Given the description of an element on the screen output the (x, y) to click on. 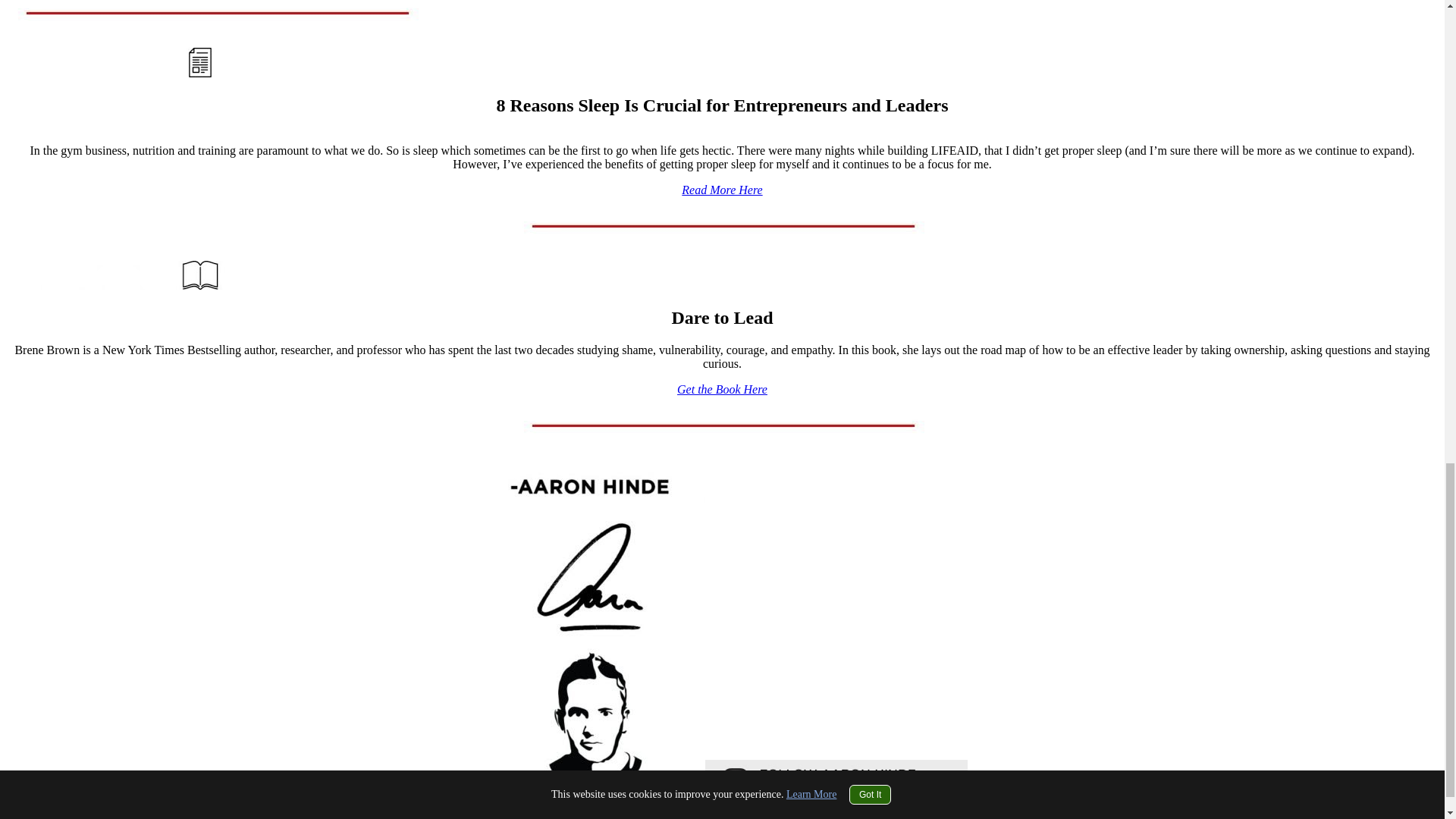
Get the Book Here (722, 389)
Read More Here (721, 189)
